Given the description of an element on the screen output the (x, y) to click on. 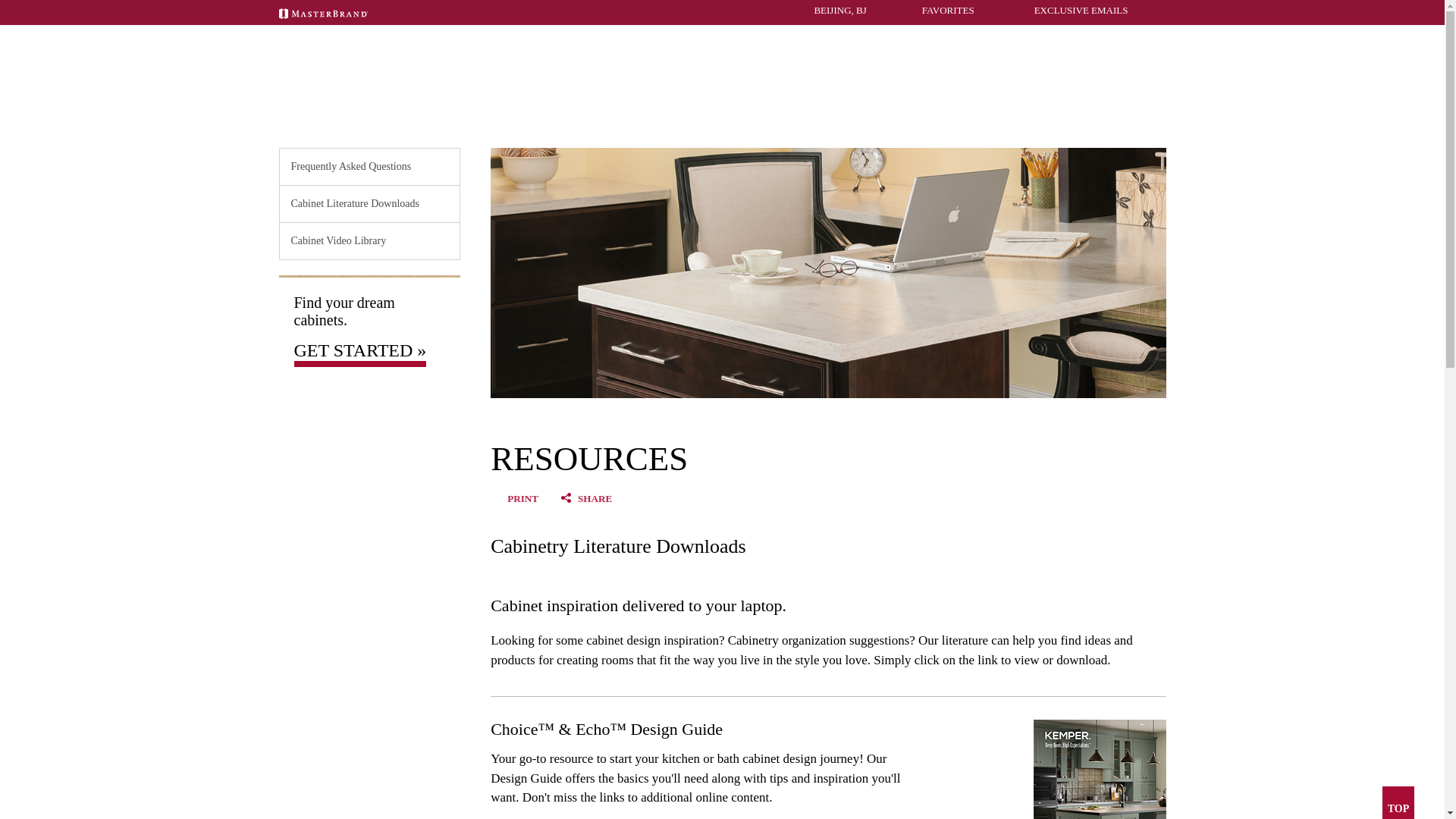
Back to top (1397, 802)
Cabinet Video Library (369, 240)
EXCLUSIVE EMAILS (1069, 9)
WHERE TO BUY (1127, 115)
OUR PRODUCTS (660, 115)
RESOURCES (910, 115)
GET STARTED (553, 115)
ABOUT KEMPER (1015, 115)
SHARE (594, 498)
PRINT (522, 498)
